Given the description of an element on the screen output the (x, y) to click on. 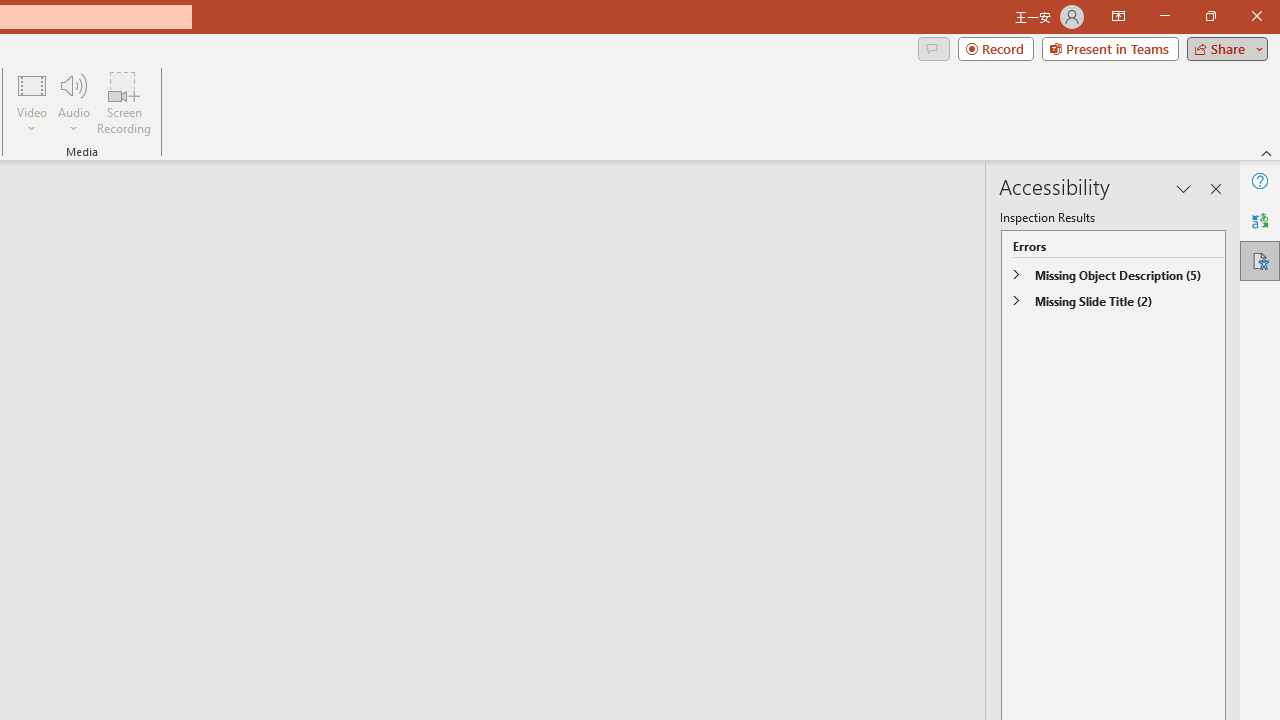
Screen Recording... (123, 102)
Video (31, 102)
Audio (73, 102)
